Given the description of an element on the screen output the (x, y) to click on. 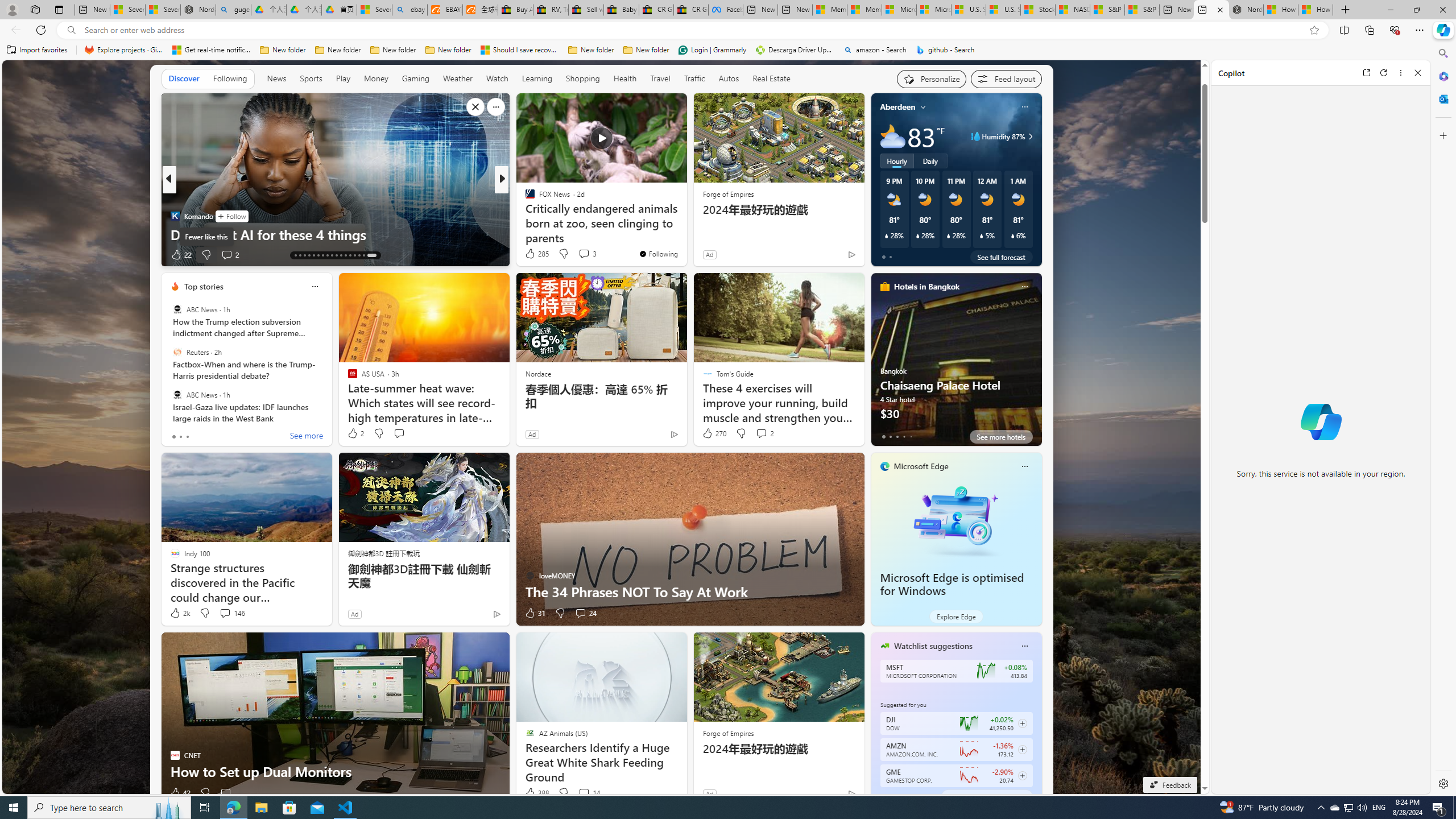
Watchlist suggestions (932, 646)
Gaming (415, 79)
Health (624, 79)
New folder (646, 49)
Settings (1442, 783)
Class: follow-button  m (1021, 775)
Follow (231, 216)
Class: icon-img (1024, 645)
Hourly (896, 160)
